Given the description of an element on the screen output the (x, y) to click on. 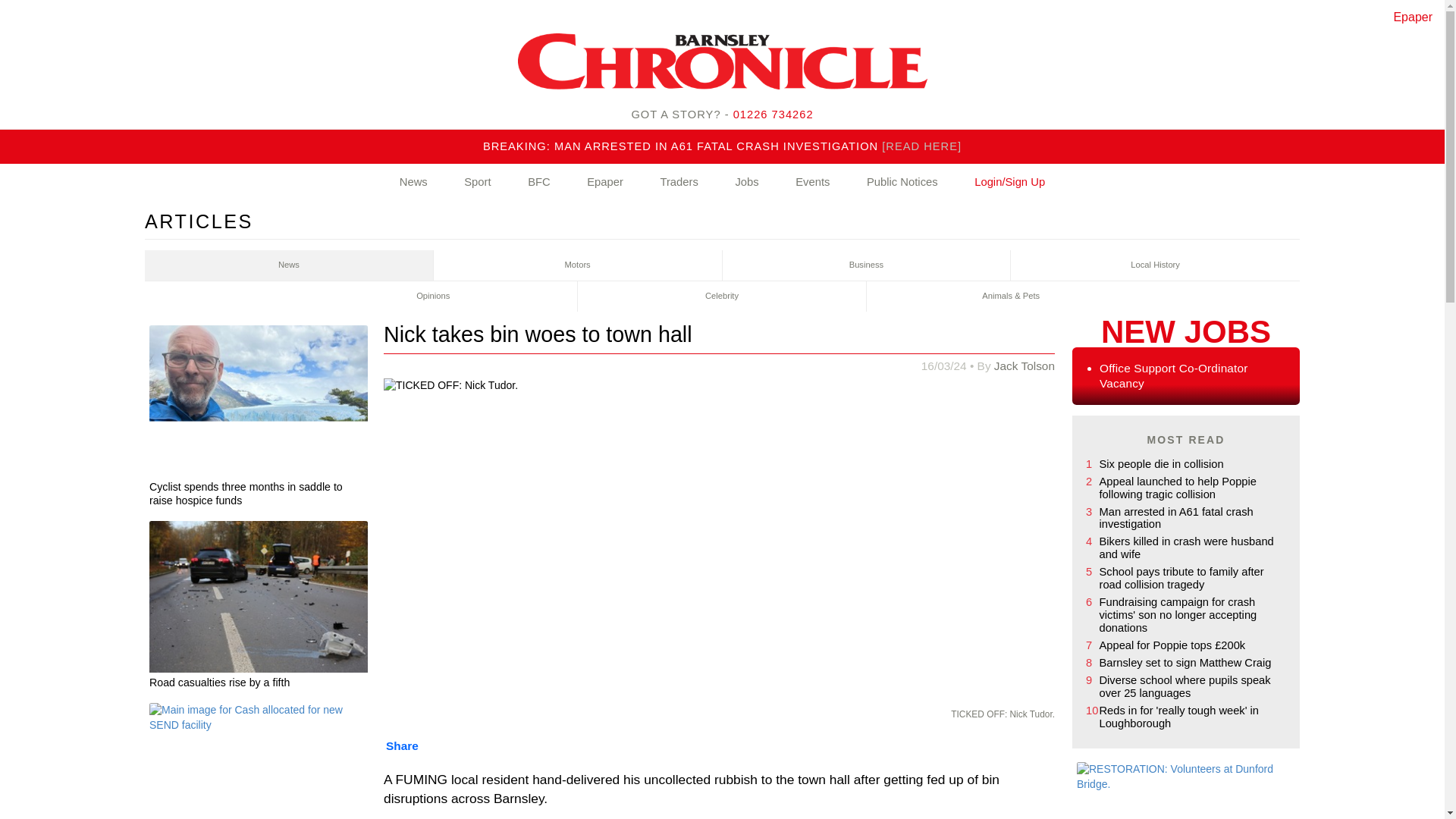
Opinions (433, 296)
Epaper (1412, 16)
News (288, 265)
Business (866, 265)
Sport (477, 182)
Traders (678, 182)
Motors (577, 265)
Epaper (604, 182)
Public Notices (902, 182)
BFC (539, 182)
Local History (1155, 265)
Events (812, 182)
News (413, 182)
01226 734262 (773, 114)
Jobs (745, 182)
